Given the description of an element on the screen output the (x, y) to click on. 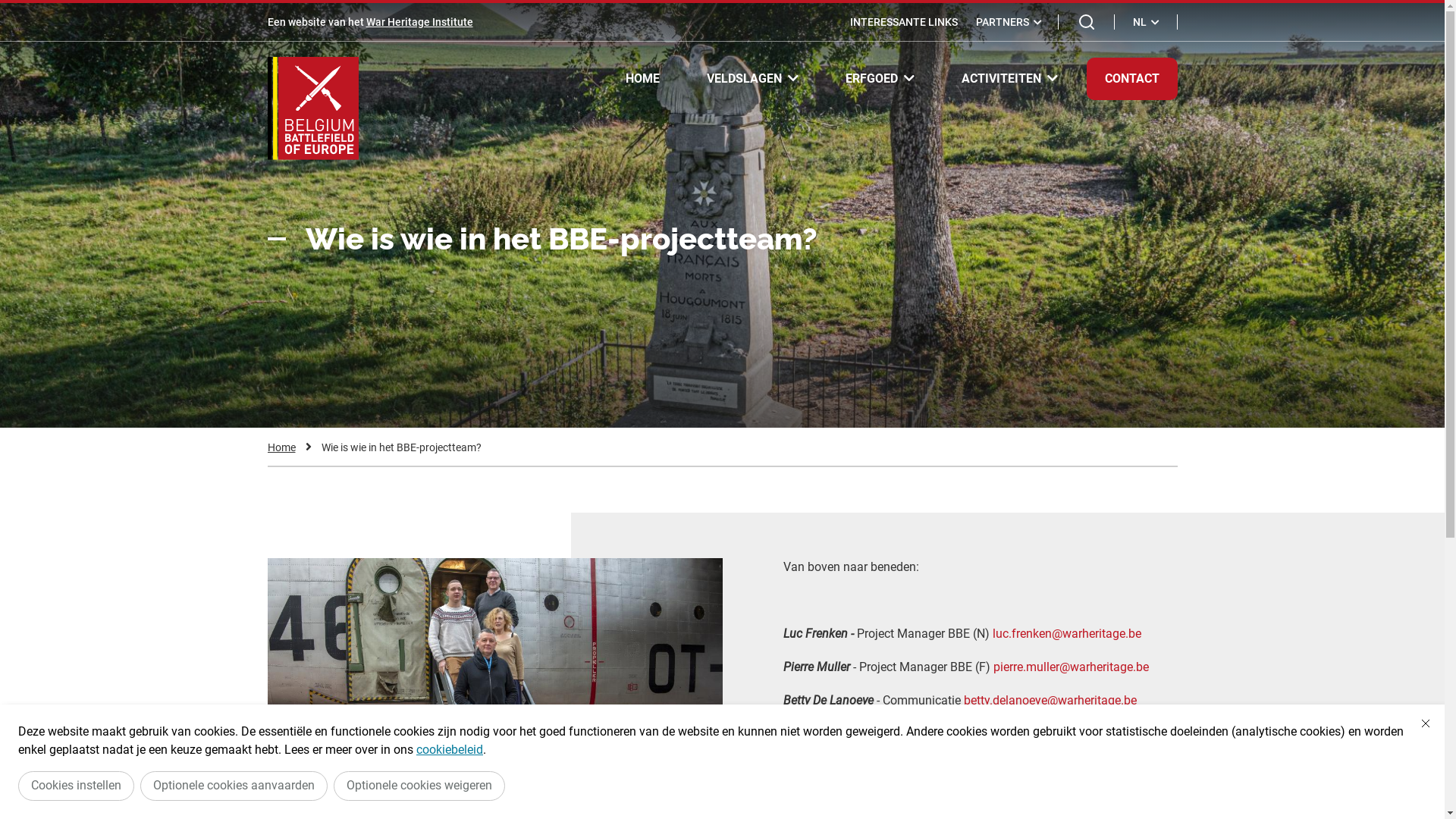
PARTNERS Element type: text (1007, 21)
luc.frenken@warheritage.be Element type: text (1065, 633)
VELDSLAGEN Element type: text (752, 77)
SEARCH Element type: text (1086, 21)
pierre.muller@warheritage.be Element type: text (1070, 666)
willem.segers@warheritage.be Element type: text (1050, 733)
ERFGOED Element type: text (878, 77)
Optionele cookies weigeren Element type: text (419, 785)
ACTIVITEITEN Element type: text (1009, 77)
cookiebeleid Element type: text (449, 749)
Cookies instellen Element type: text (76, 785)
CONTACT Element type: text (1130, 78)
Optionele cookies aanvaarden Element type: text (233, 785)
Overslaan en naar de inhoud gaan Element type: text (7, 4)
Home Element type: text (280, 447)
War Heritage Institute Element type: text (418, 21)
NL Element type: text (1145, 21)
Sluiten Element type: hover (1425, 723)
Belgium Battlefield of Europe home page Element type: text (311, 108)
betty.delanoeye@warheritage.be Element type: text (1049, 700)
HOME Element type: text (641, 78)
INTERESSANTE LINKS Element type: text (902, 21)
